Given the description of an element on the screen output the (x, y) to click on. 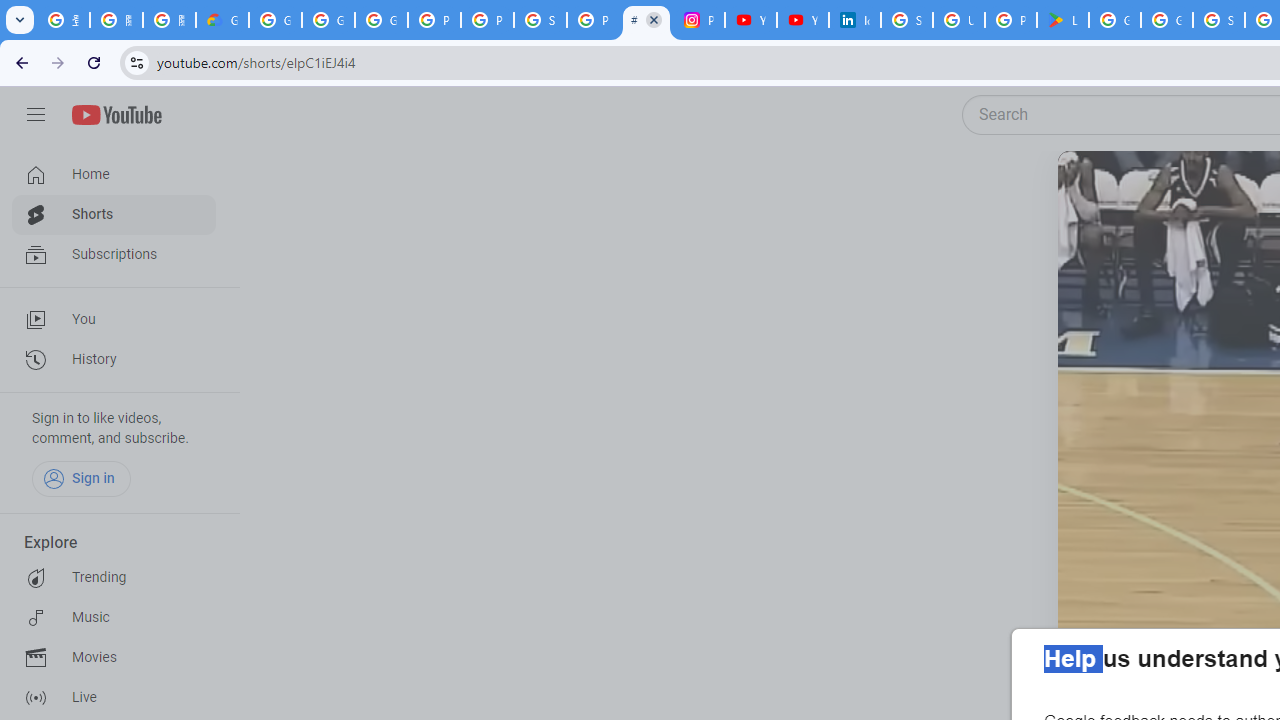
Guide (35, 115)
Google Workspace - Specific Terms (1166, 20)
YouTube Home (116, 115)
YouTube Culture & Trends - On The Rise: Handcam Videos (750, 20)
History (113, 359)
Shorts (113, 214)
